Given the description of an element on the screen output the (x, y) to click on. 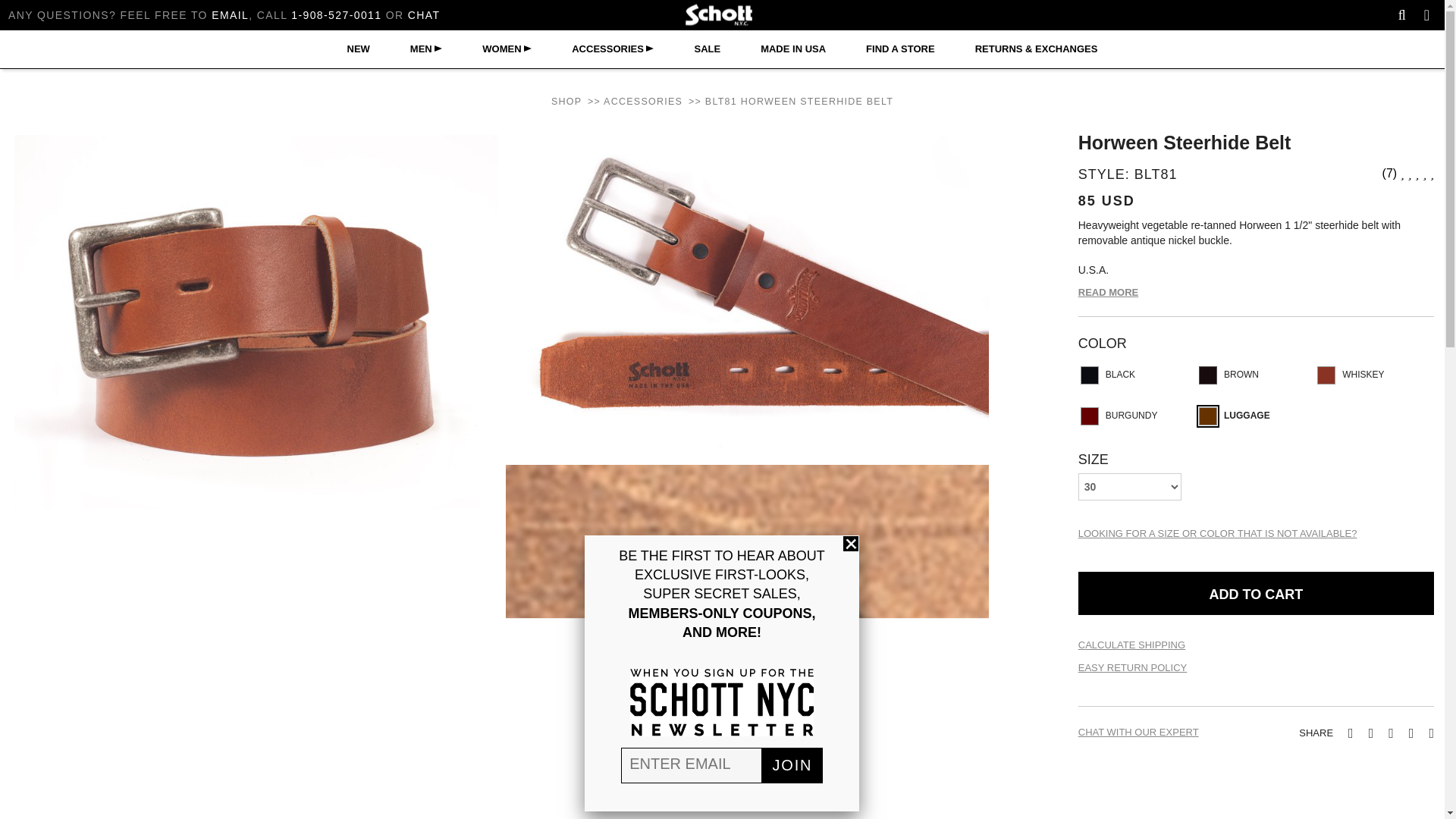
SCHOTT N.Y.C. (722, 15)
CHAT (424, 15)
1-908-527-0011 (336, 15)
EMAIL (229, 15)
NEW (358, 48)
MEN (422, 48)
